Given the description of an element on the screen output the (x, y) to click on. 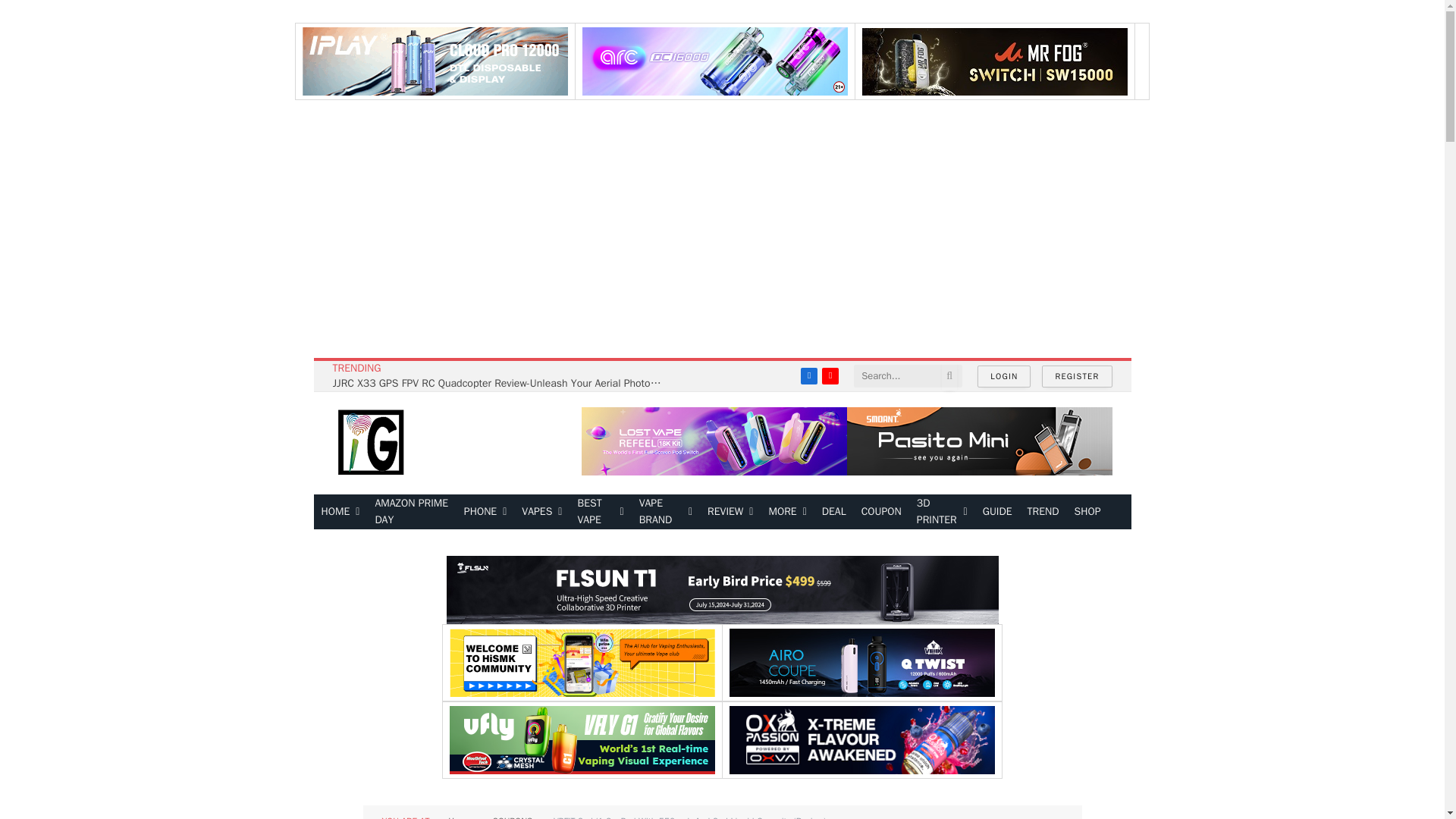
PHONE (485, 511)
HOME (341, 511)
REGISTER (1077, 376)
LOGIN (1003, 376)
YouTube (830, 375)
Facebook (808, 375)
AMAZON PRIME DAY (410, 511)
